Given the description of an element on the screen output the (x, y) to click on. 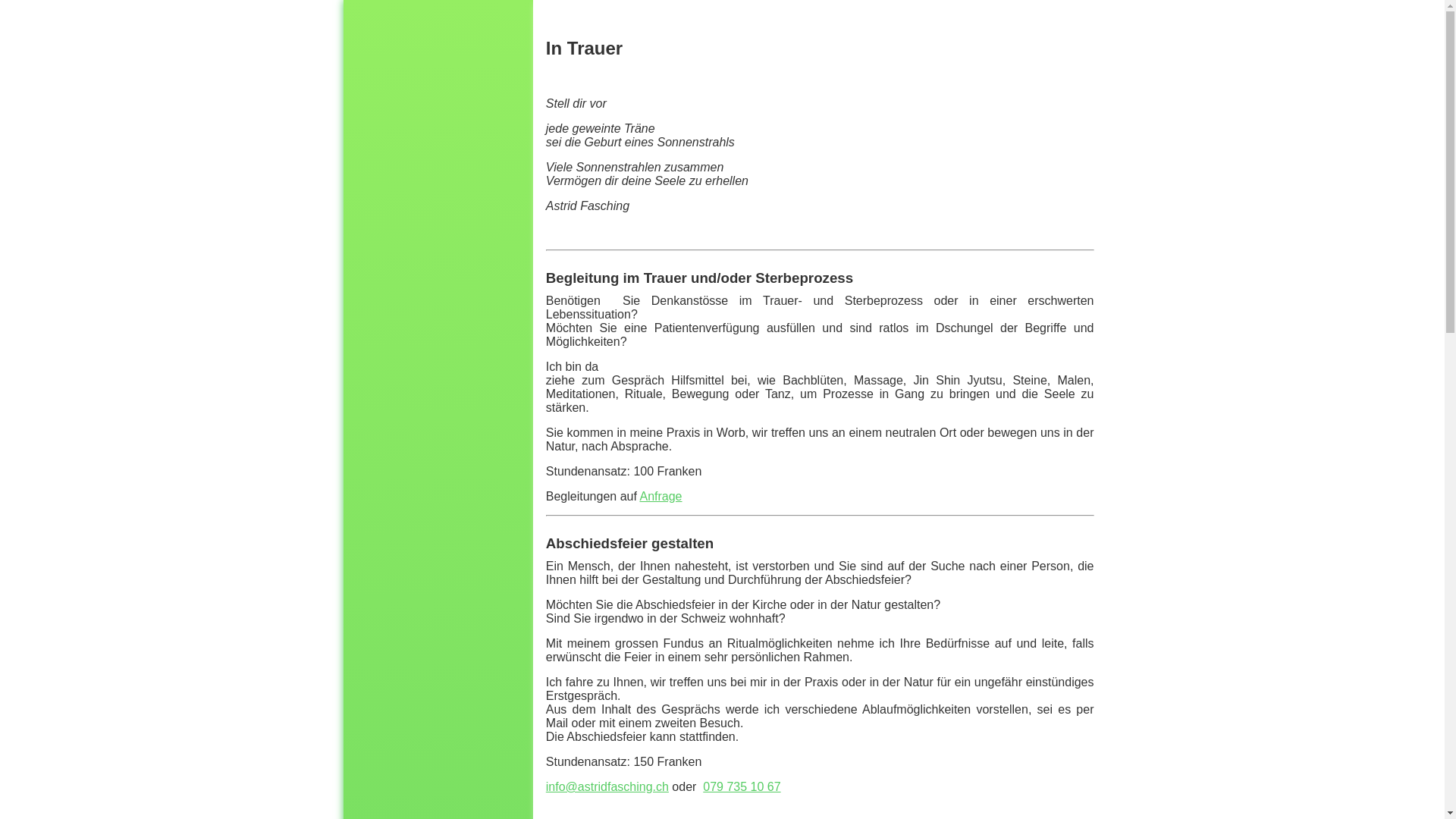
Anfrage Element type: text (660, 495)
info@astridfasching.ch Element type: text (607, 786)
079 735 10 67 Element type: text (741, 786)
